Given the description of an element on the screen output the (x, y) to click on. 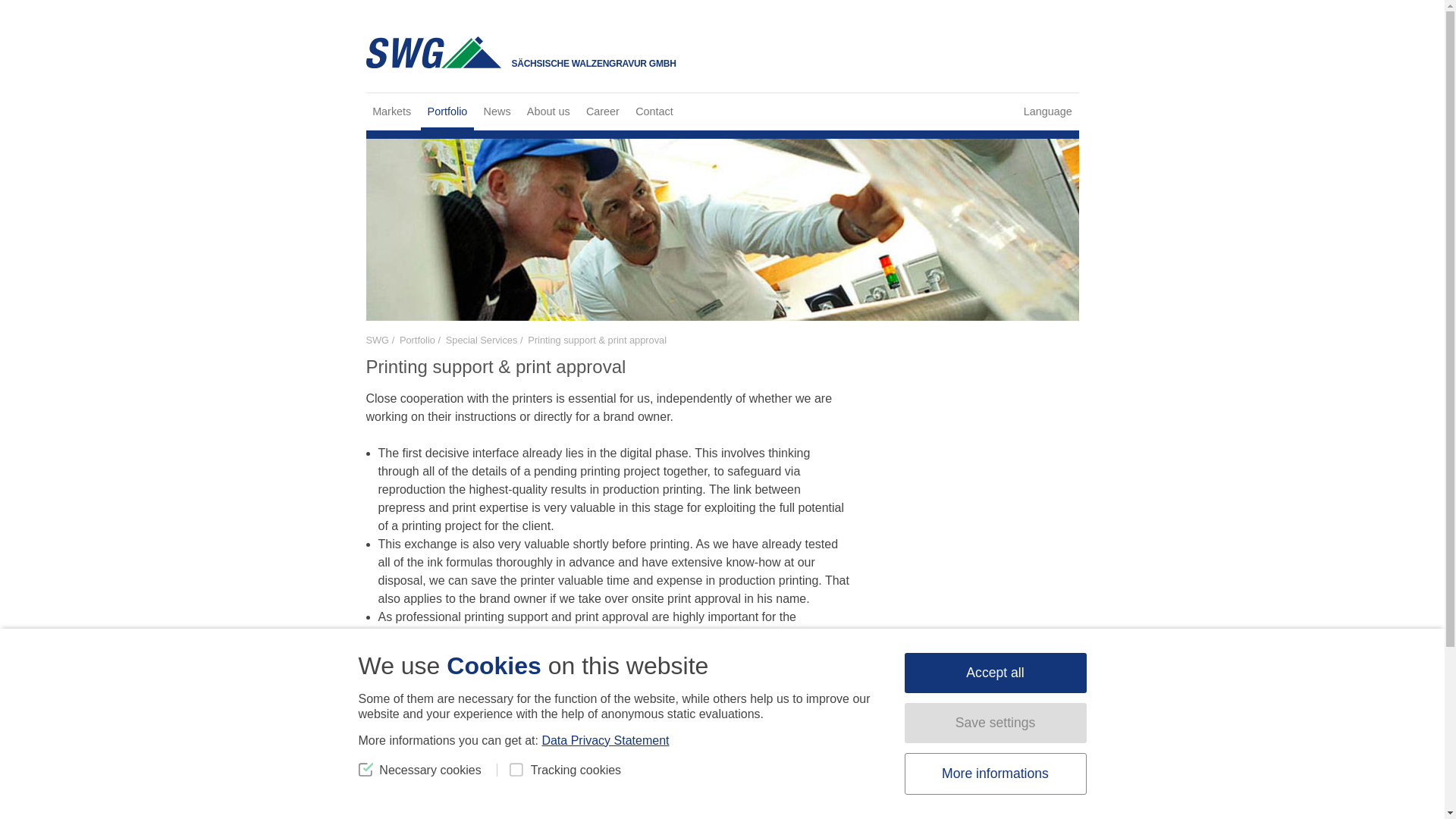
Portfolio (447, 111)
Markets (390, 111)
